Given the description of an element on the screen output the (x, y) to click on. 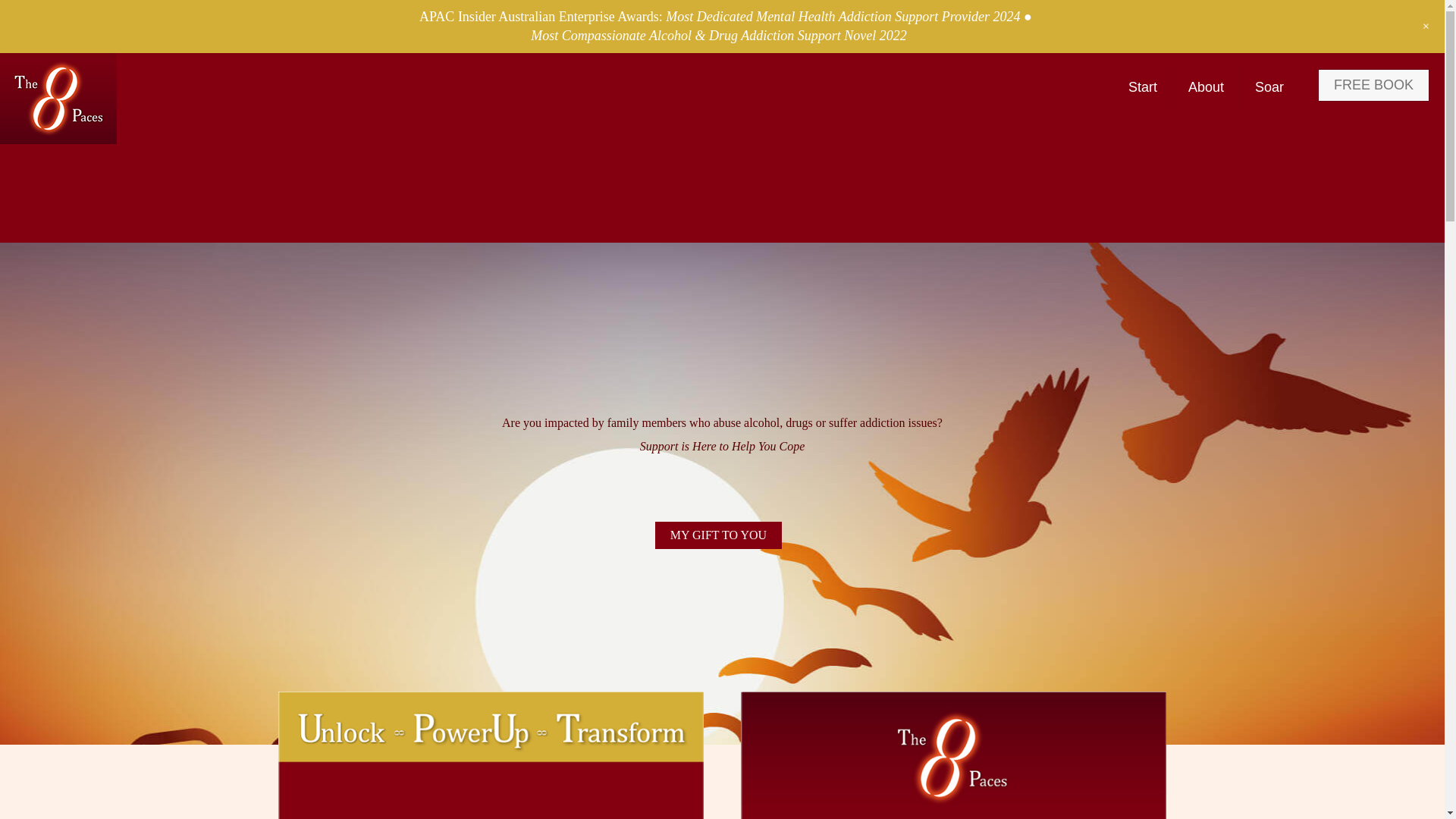
FREE BOOK (1373, 84)
About (1206, 87)
FREE BOOK (1373, 84)
MY GIFT TO YOU (718, 534)
